Given the description of an element on the screen output the (x, y) to click on. 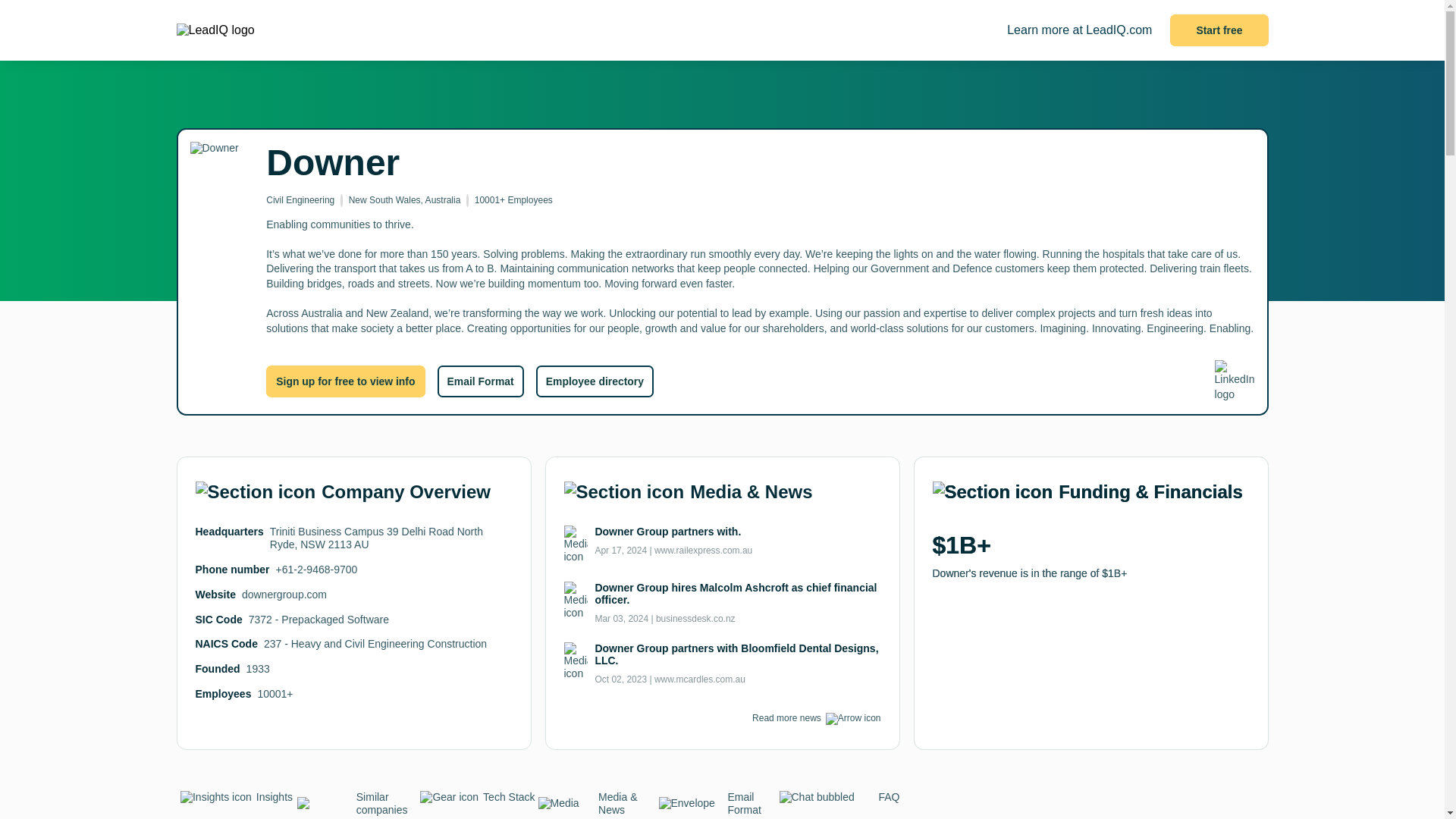
Tech Stack (476, 801)
Employee directory (594, 381)
Email Format (718, 805)
Sign up for free to view info (345, 381)
Similar companies (357, 805)
Start free (1219, 29)
FAQ (838, 801)
Email Format (479, 381)
Learn more at LeadIQ.com (1079, 29)
Insights (236, 801)
